Given the description of an element on the screen output the (x, y) to click on. 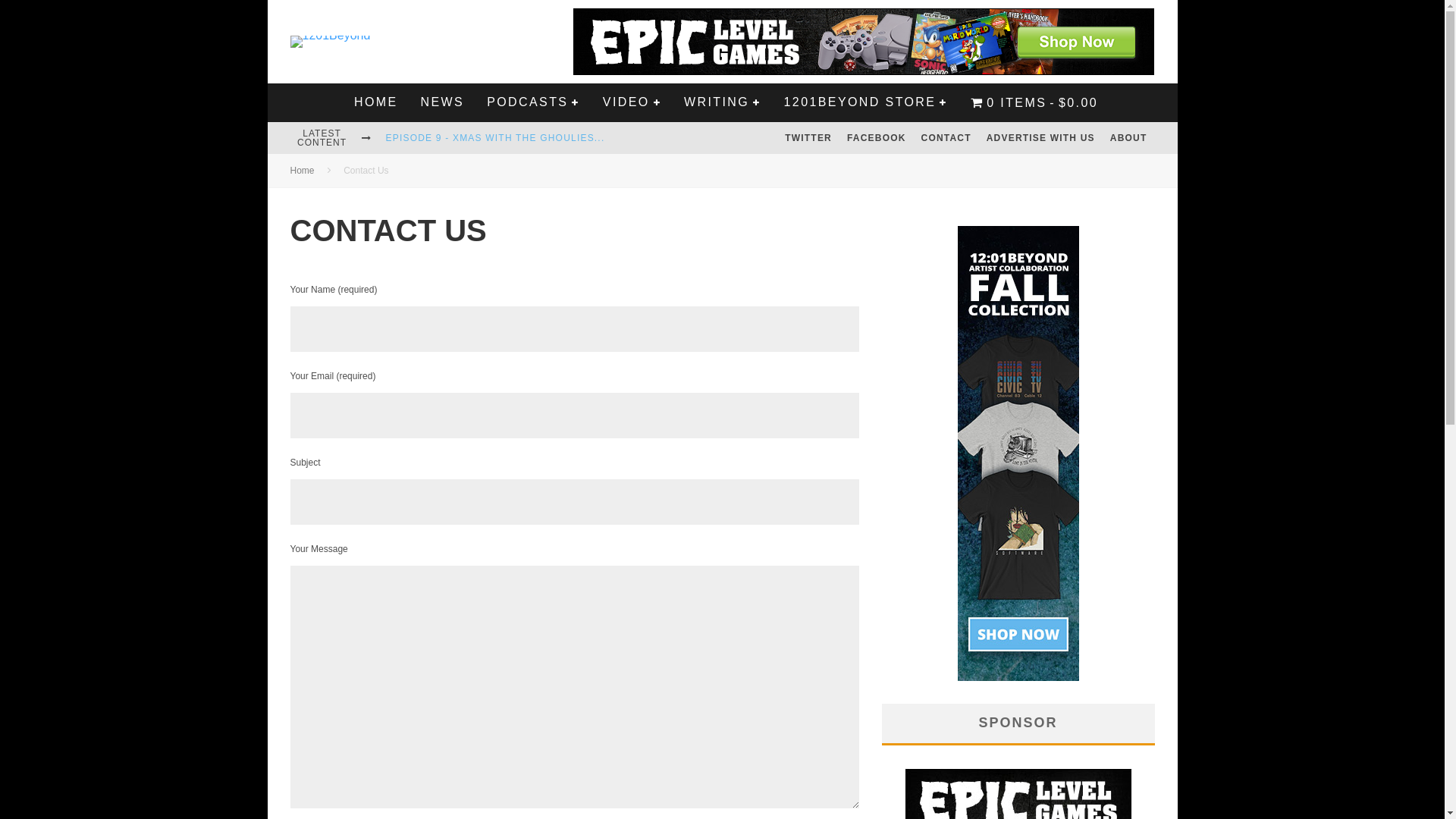
ABOUT Element type: text (1128, 137)
WRITING Element type: text (722, 102)
VIDEO Element type: text (631, 102)
ADVERTISE WITH US Element type: text (1040, 137)
Epic Level Games | Online FLGS Element type: hover (862, 15)
1201BEYOND STORE Element type: text (865, 102)
EPISODE 9 - XMAS WITH THE GHOULIES... Element type: text (495, 137)
0 ITEMS$0.00 Element type: text (1034, 102)
TWITTER Element type: text (808, 137)
FACEBOOK Element type: text (876, 137)
CONTACT Element type: text (946, 137)
HOME Element type: text (375, 102)
Home Element type: text (301, 170)
PODCASTS Element type: text (533, 102)
NEWS Element type: text (442, 102)
